Given the description of an element on the screen output the (x, y) to click on. 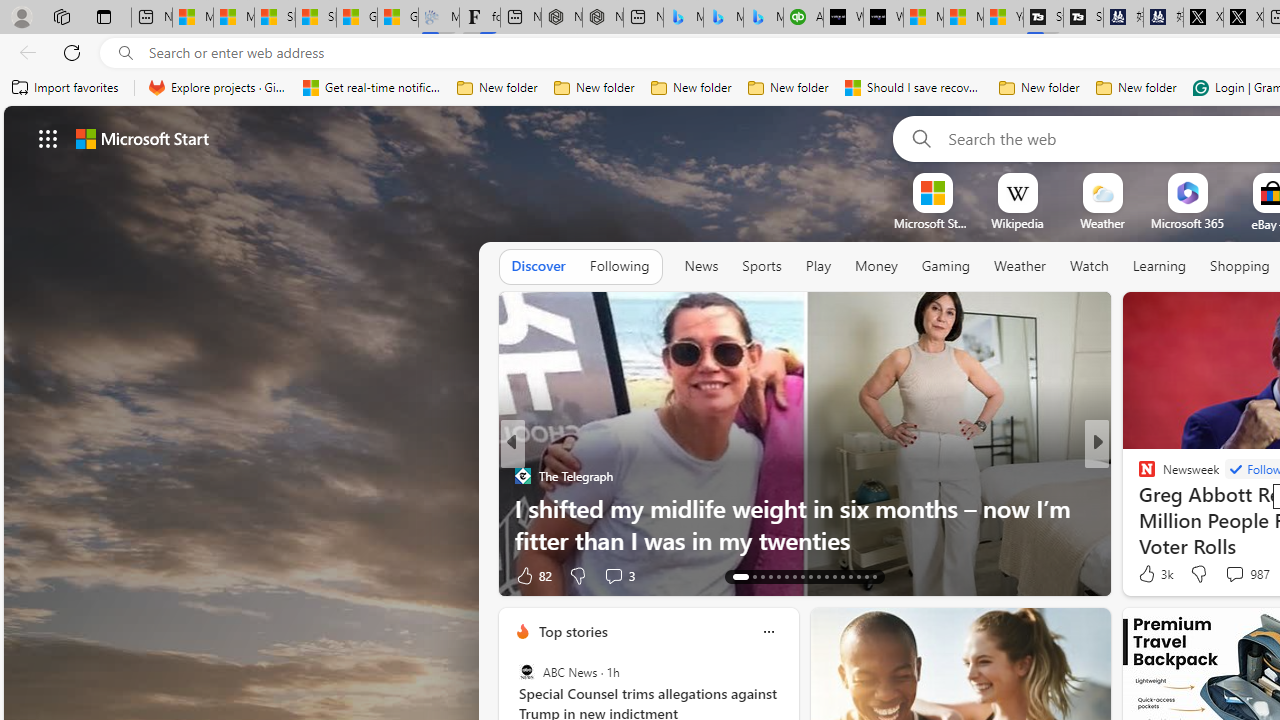
CBS News (Video) (1138, 475)
491 Like (1151, 574)
79 Like (1149, 574)
Newsweek (1138, 475)
AutomationID: tab-21 (810, 576)
View comments 2 Comment (1234, 574)
Class: control (47, 138)
The Weather Channel (1138, 475)
